Given the description of an element on the screen output the (x, y) to click on. 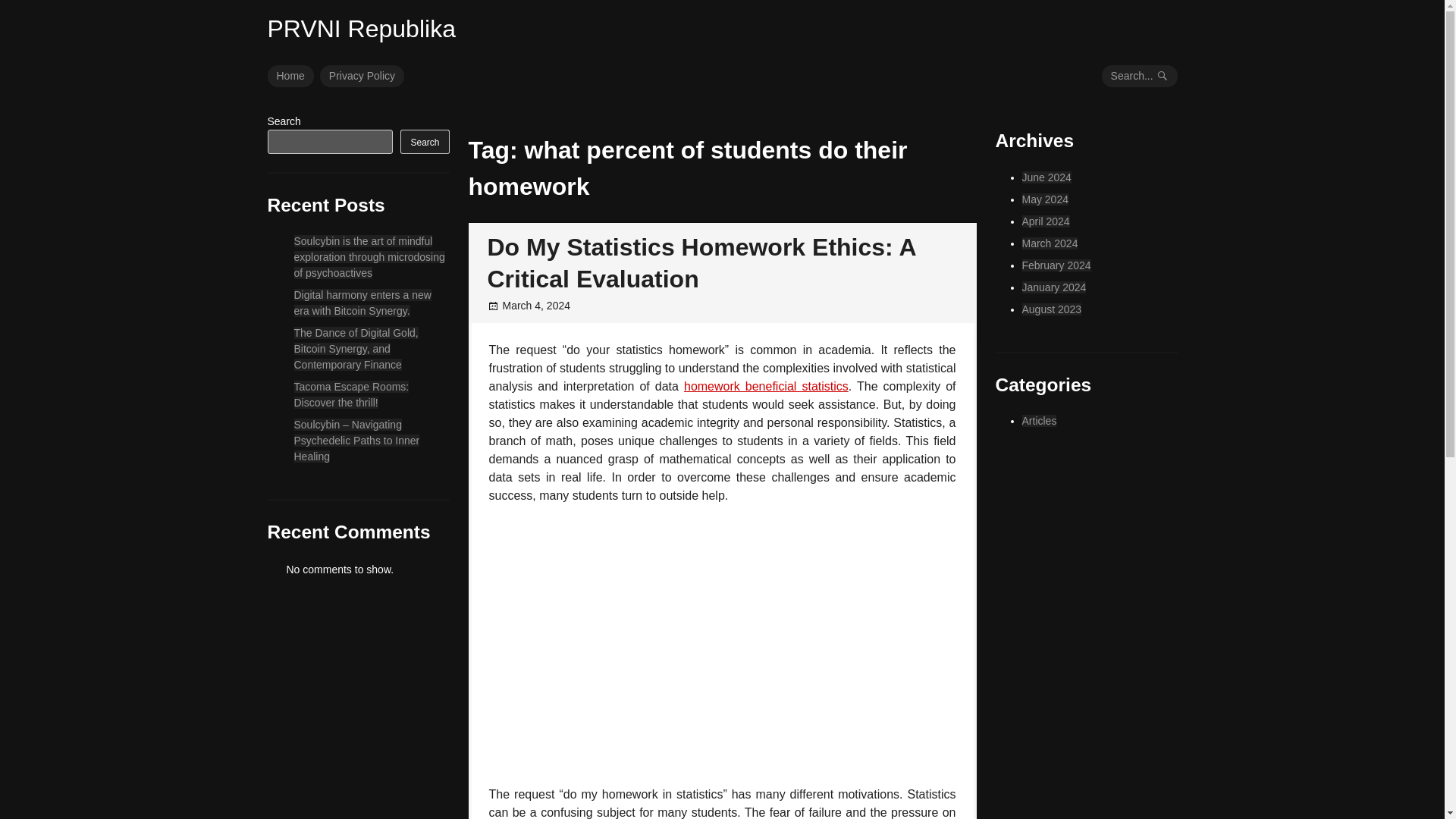
Digital harmony enters a new era with Bitcoin Synergy. (362, 302)
Articles (1039, 420)
Privacy Policy (362, 75)
June 2024 (1046, 177)
Home (289, 75)
August 2023 (1051, 309)
May 2024 (1045, 198)
March 4, 2024 (536, 305)
